Given the description of an element on the screen output the (x, y) to click on. 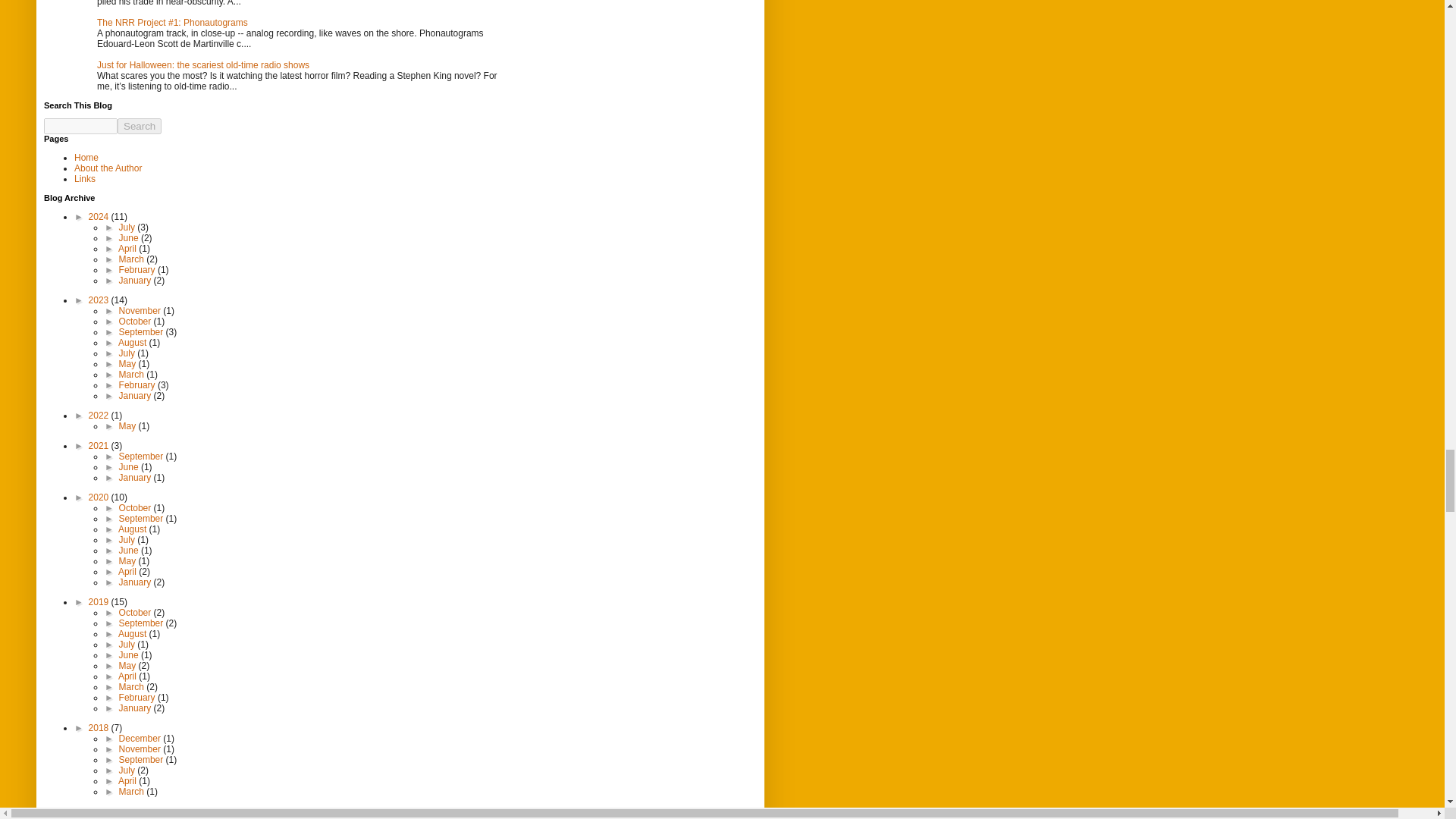
Search (139, 125)
Search (139, 125)
Search (139, 125)
Just for Halloween: the scariest old-time radio shows (202, 64)
